Given the description of an element on the screen output the (x, y) to click on. 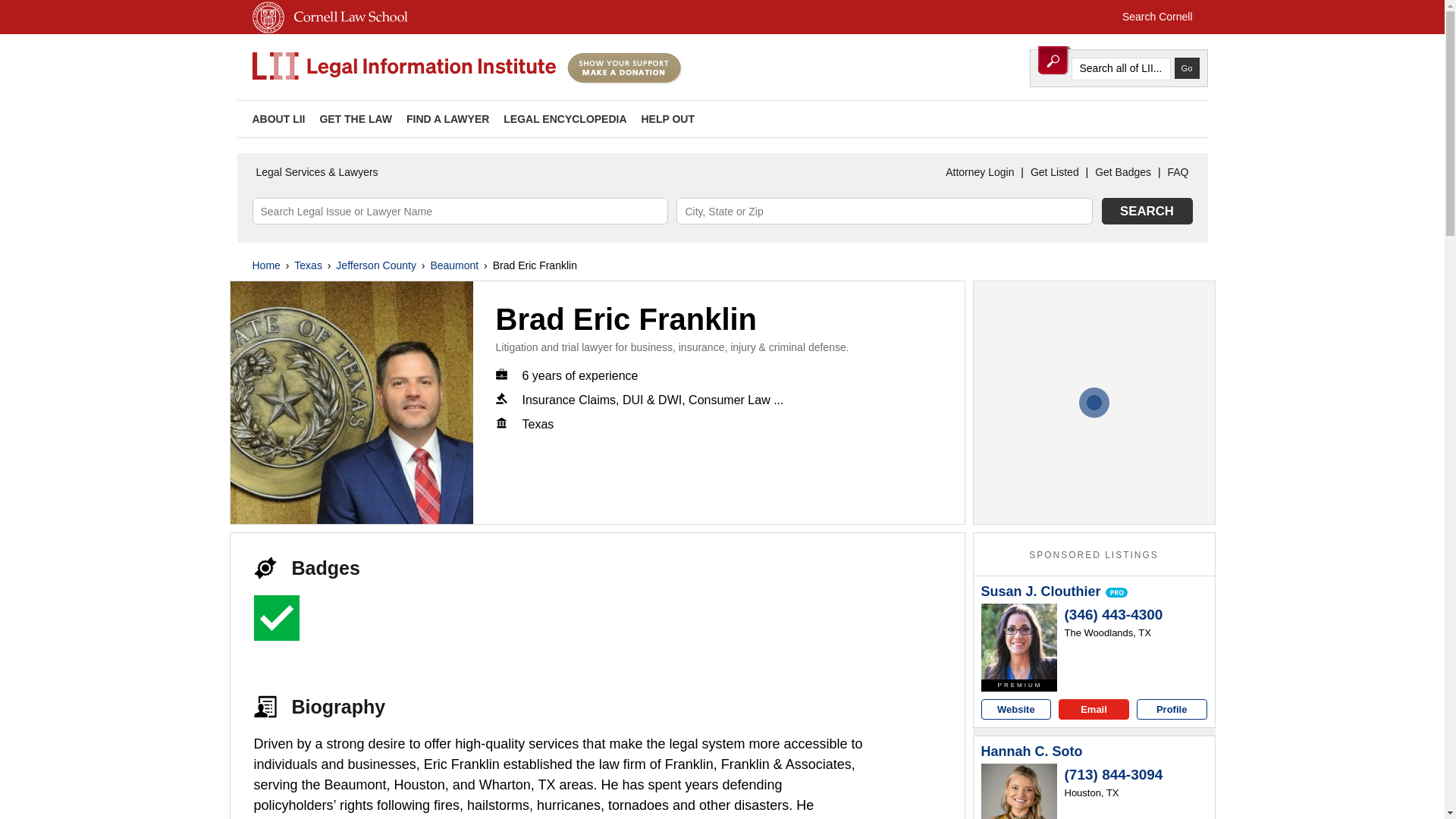
Get Listed (1054, 172)
twitter follow (1125, 118)
Hannah C. Soto (1032, 751)
Website (1016, 709)
Cornell - LII Attorney Directory (402, 67)
GET THE LAW (354, 119)
Search Legal Issue or Lawyer Name (459, 211)
SEARCH (1146, 211)
Go (1185, 67)
Get Badges (1122, 172)
Hannah C. Soto (1019, 791)
Profile (1172, 709)
Beaumont (454, 264)
Susan J. Clouthier (1019, 641)
FIND A LAWYER (447, 119)
